Given the description of an element on the screen output the (x, y) to click on. 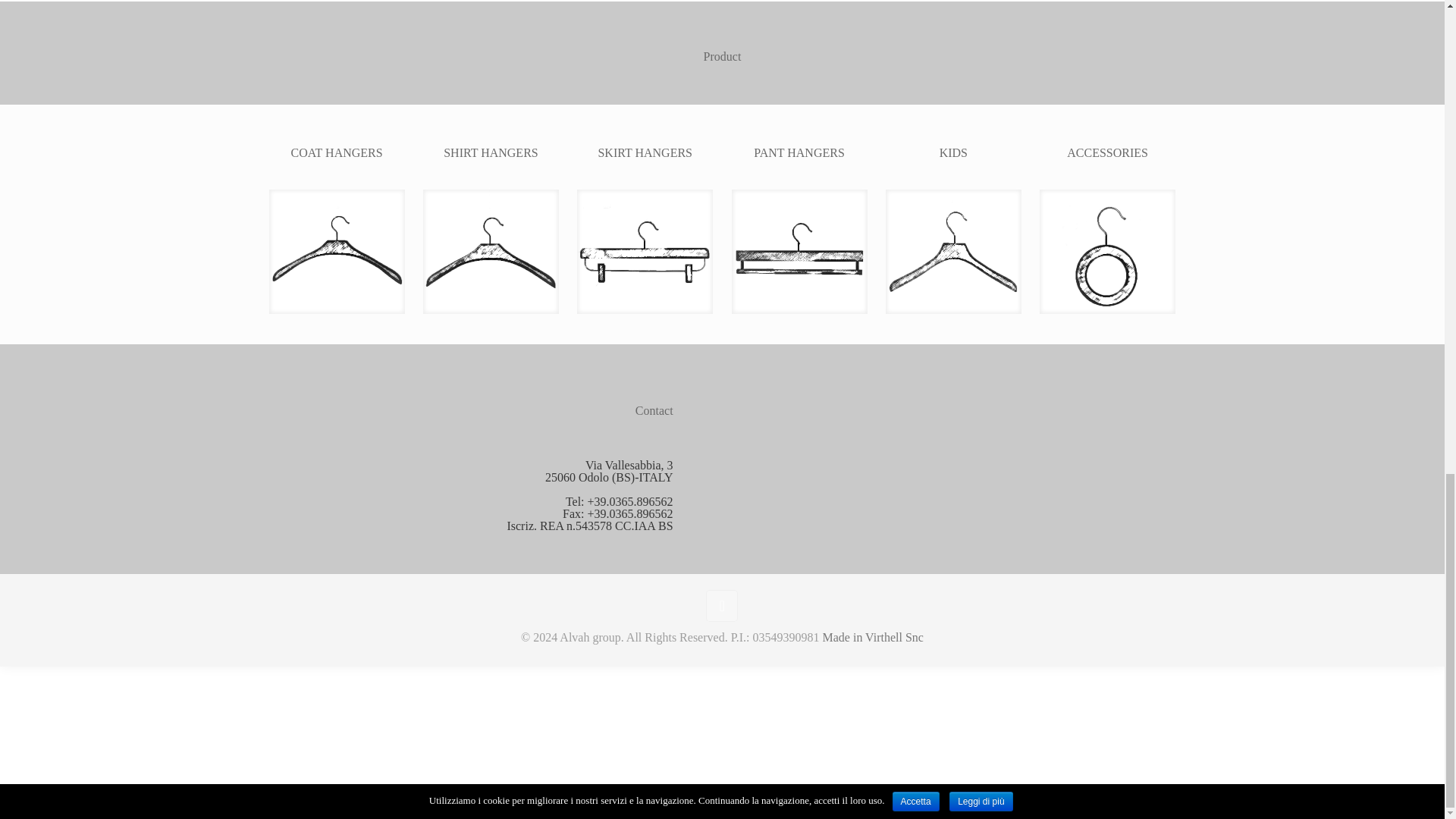
Virthell Snc (872, 636)
